Given the description of an element on the screen output the (x, y) to click on. 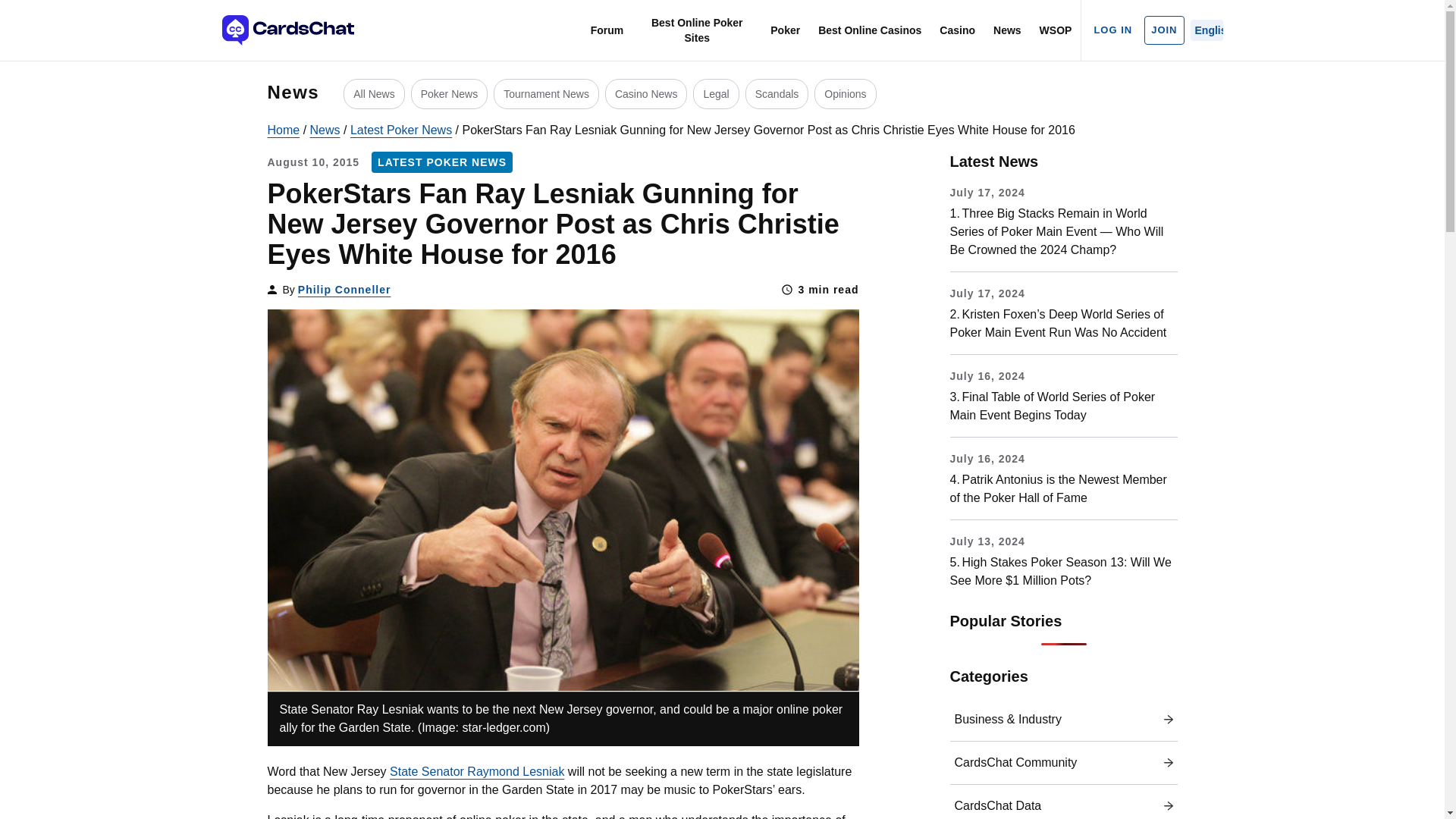
Best Online Poker Sites (696, 30)
